Given the description of an element on the screen output the (x, y) to click on. 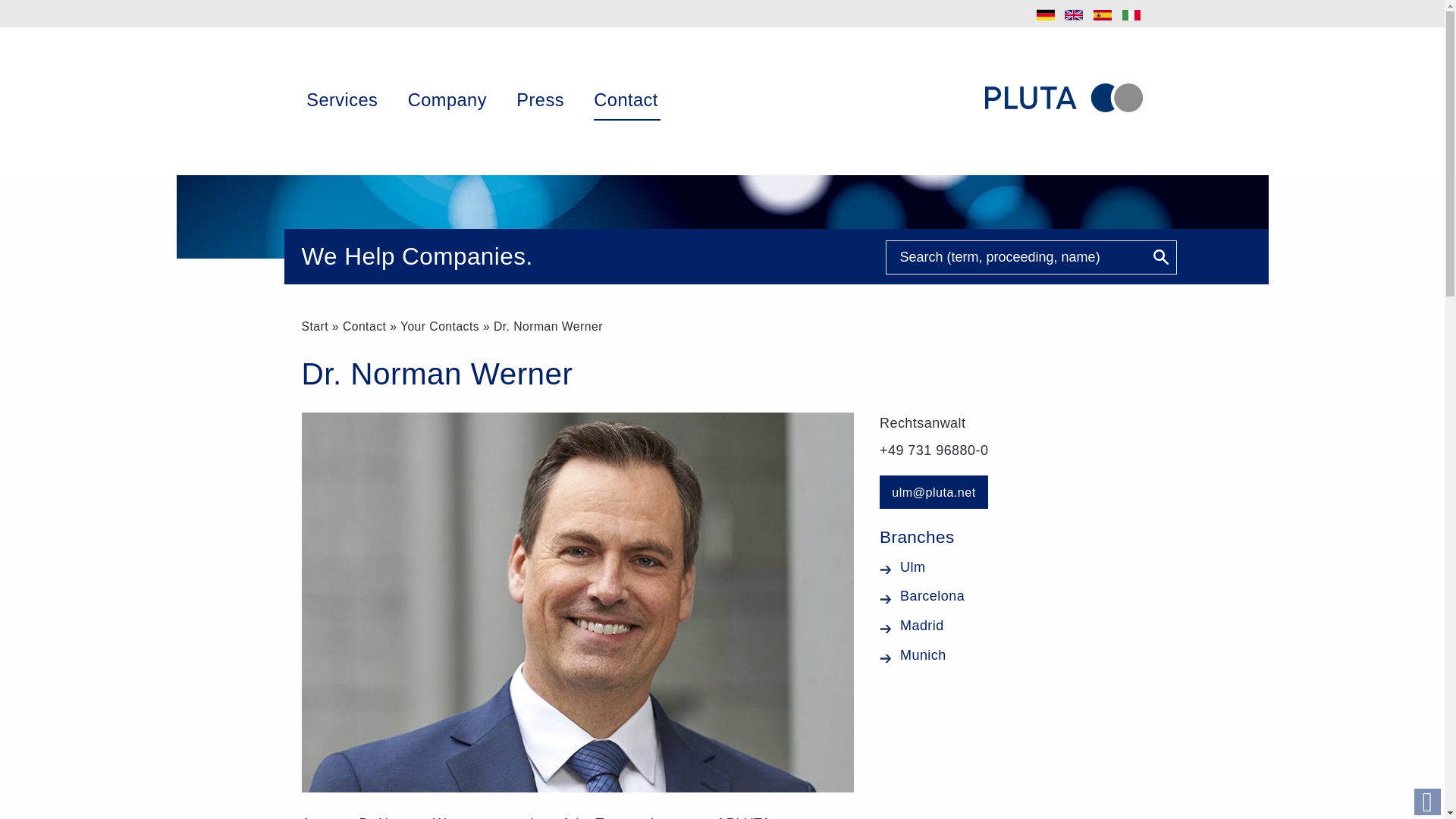
ES (1102, 15)
IT (1130, 15)
EN (1073, 15)
DE (1045, 15)
